Given the description of an element on the screen output the (x, y) to click on. 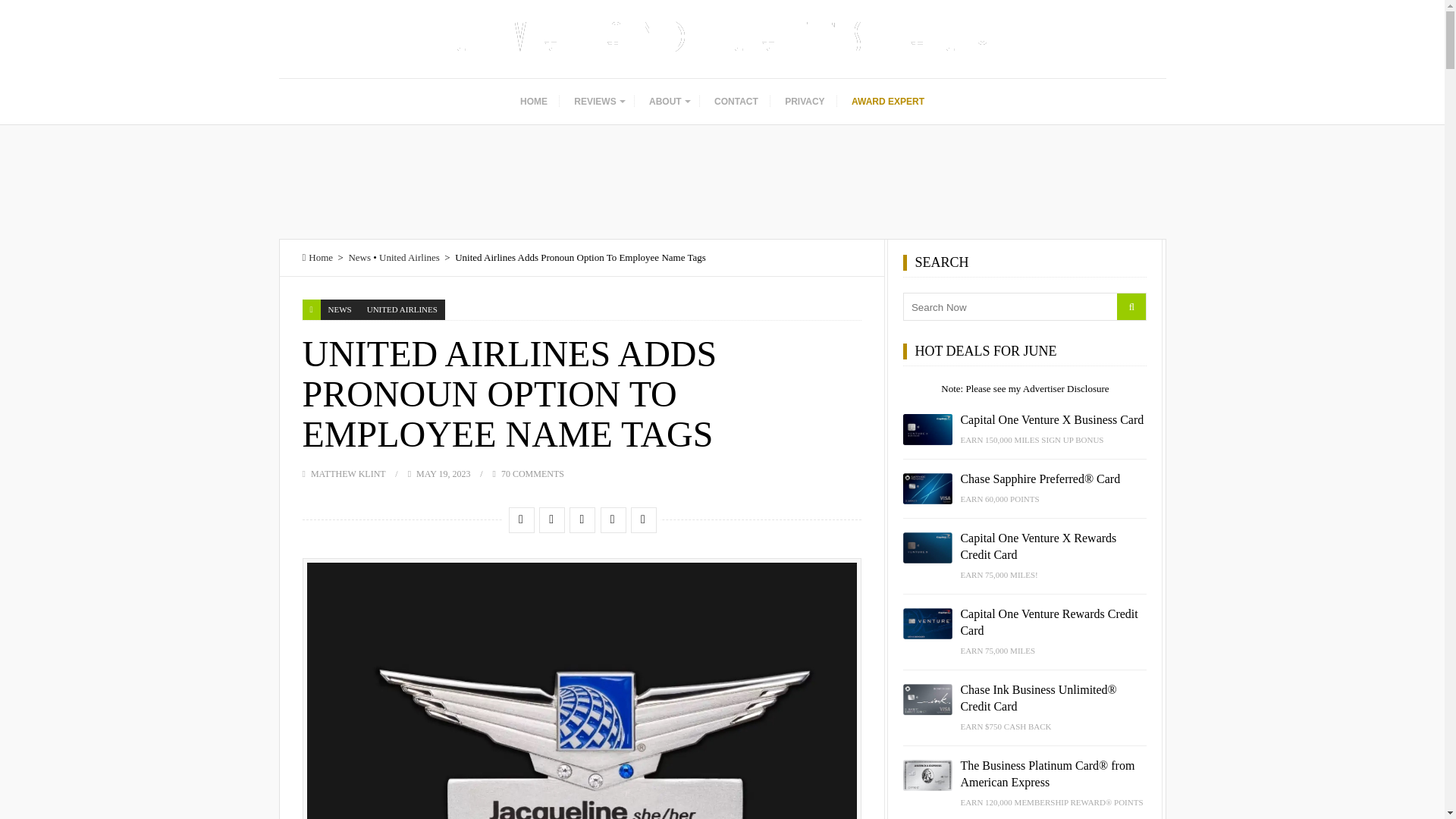
70 COMMENTS (532, 473)
Capital One Venture X Business Credit Card (927, 428)
PRIVACY (804, 101)
View all posts in News (339, 309)
Capital One Venture X Rewards Credit Card (927, 546)
UNITED AIRLINES (402, 309)
NEWS (339, 309)
Home (317, 256)
Capital One Venture Rewards Credit Card (927, 622)
REVIEWS (597, 101)
United Airlines (408, 256)
CONTACT (735, 101)
View all posts in United Airlines (402, 309)
AWARD EXPERT (888, 101)
News (359, 256)
